Given the description of an element on the screen output the (x, y) to click on. 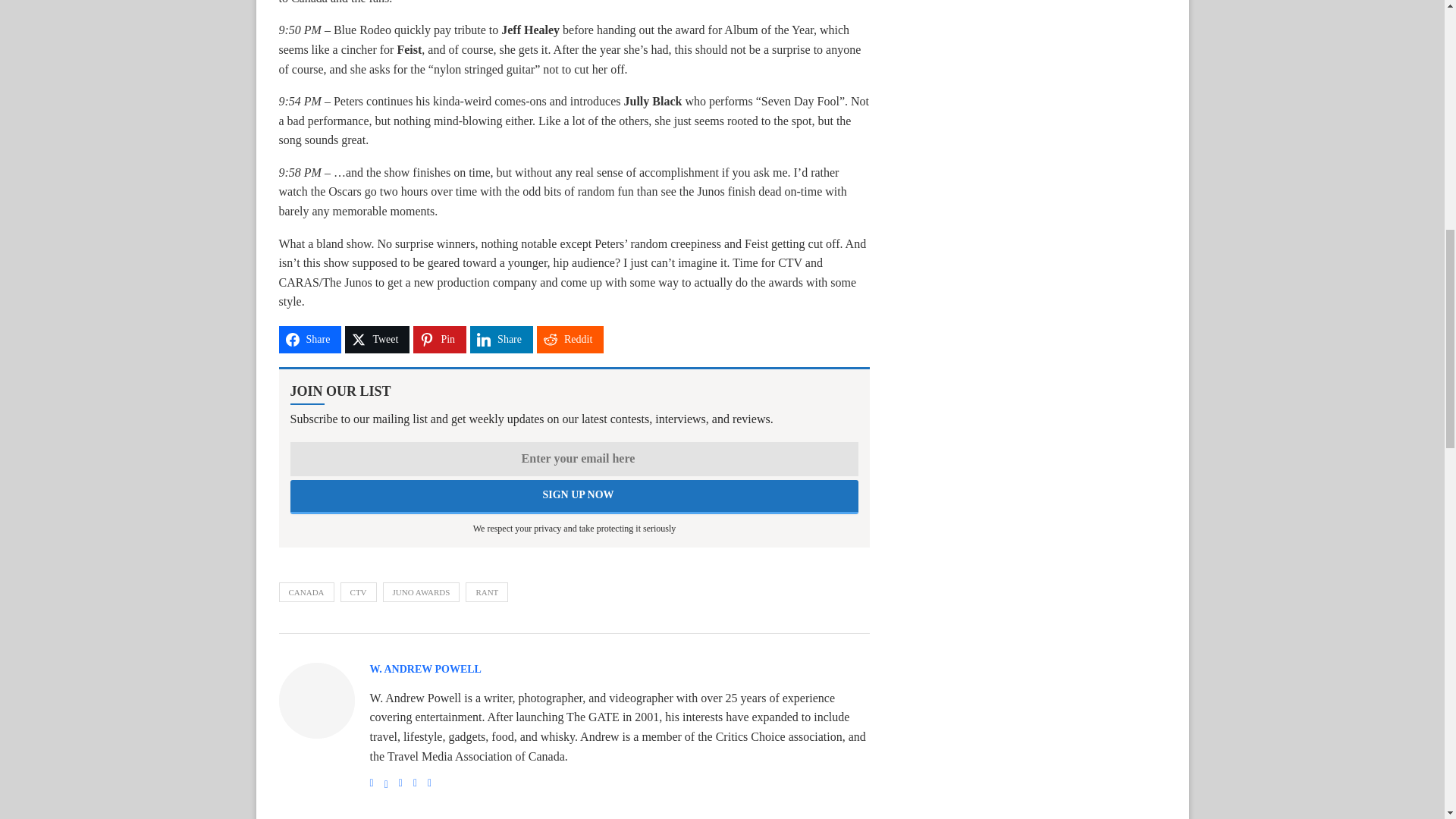
Sign Up Now (574, 496)
Share on Share (310, 338)
CANADA (306, 591)
Share (310, 338)
Reddit (570, 338)
Tweet (377, 338)
Share on Share (501, 338)
RANT (486, 591)
CTV (358, 591)
Author W. Andrew Powell (425, 669)
